Given the description of an element on the screen output the (x, y) to click on. 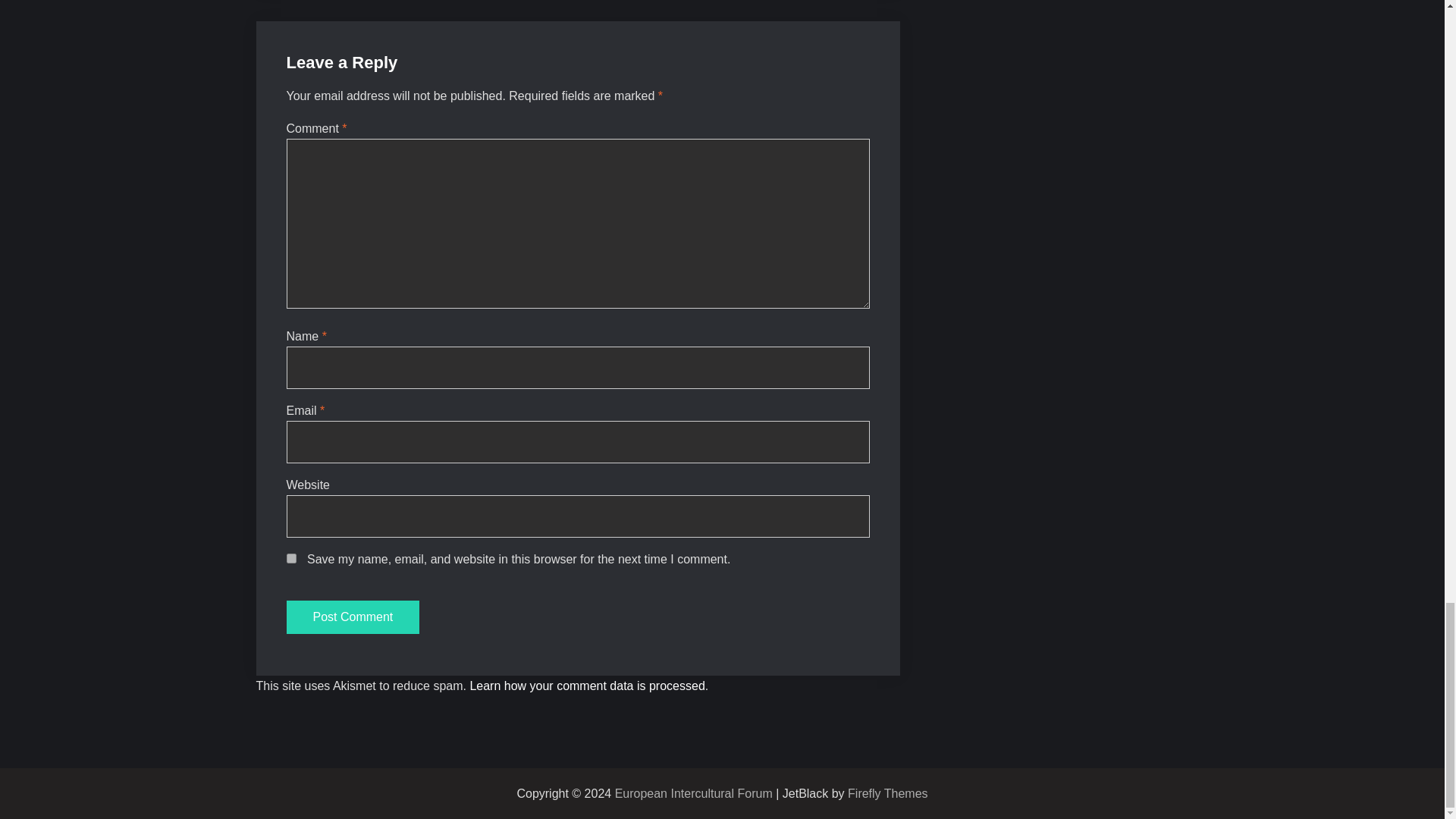
Firefly Themes (887, 793)
European Intercultural Forum (693, 793)
Post Comment (353, 616)
Learn how your comment data is processed (586, 685)
yes (291, 558)
Post Comment (353, 616)
